Given the description of an element on the screen output the (x, y) to click on. 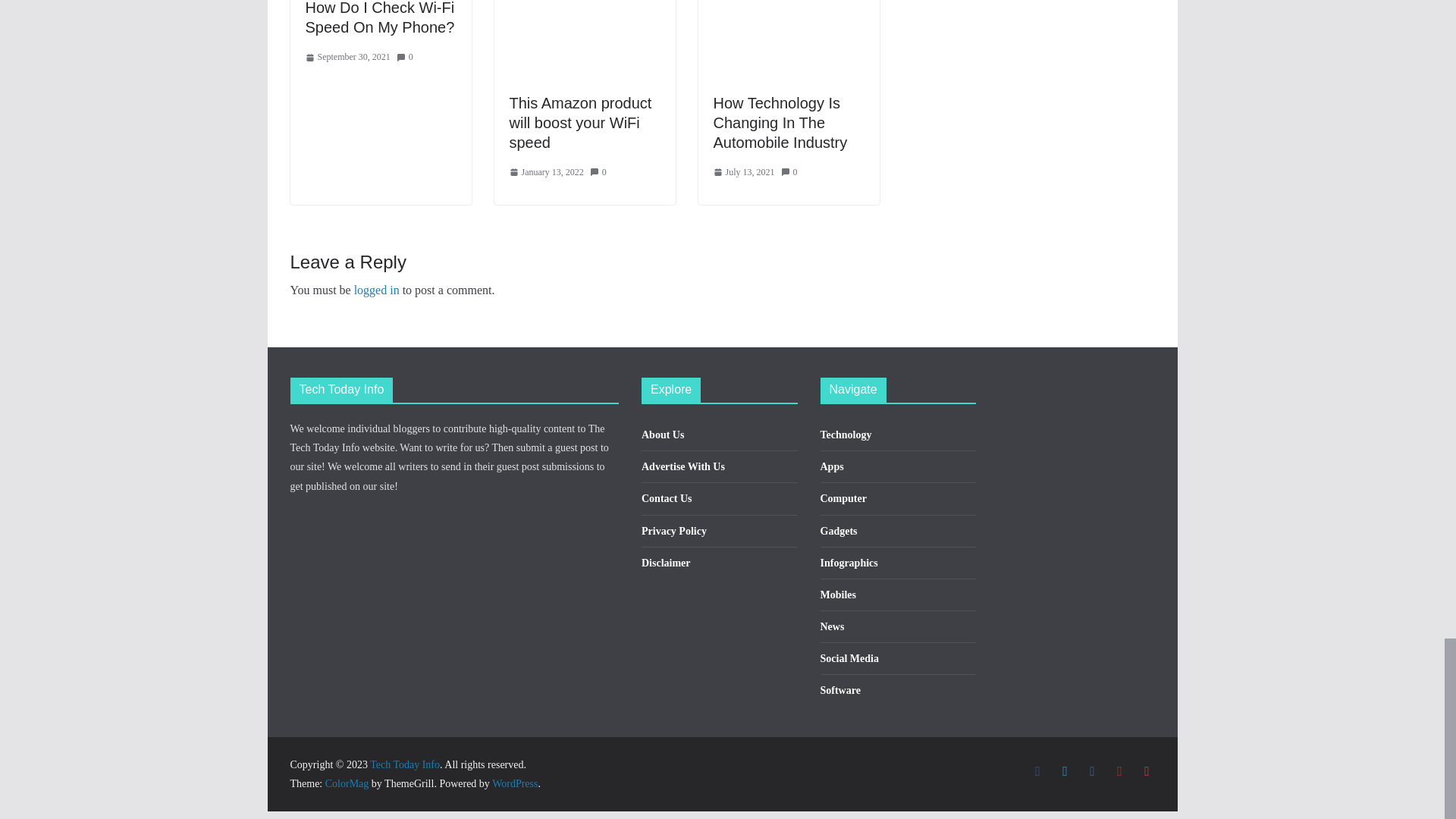
September 30, 2021 (347, 57)
How Do I Check Wi-Fi Speed On My Phone? (379, 18)
This Amazon product will boost your WiFi speed (580, 122)
How Do I Check Wi-Fi Speed  On My Phone? (379, 18)
9:00 am (347, 57)
